Given the description of an element on the screen output the (x, y) to click on. 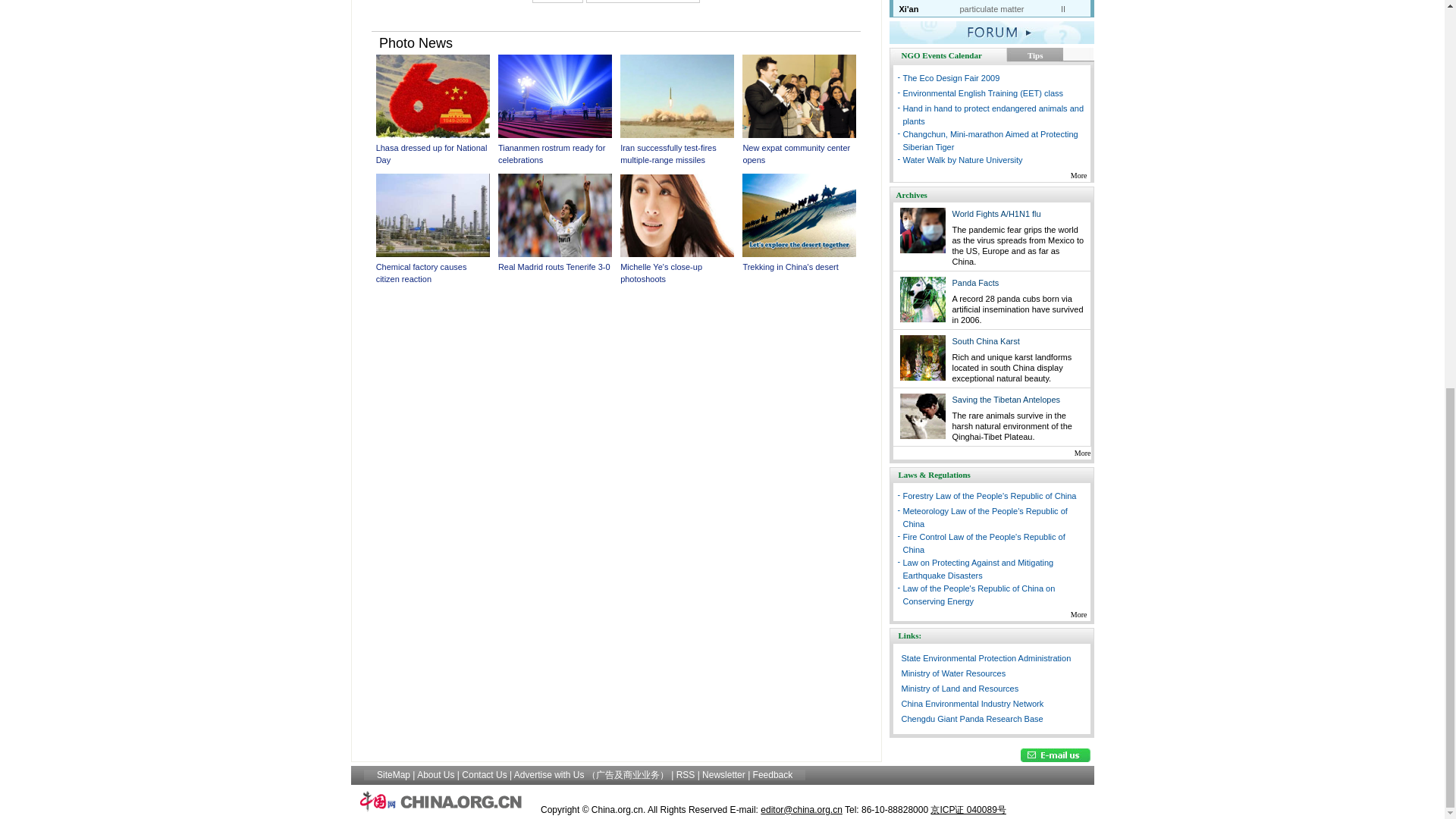
Submit (557, 1)
View All Comments (643, 1)
